Given the description of an element on the screen output the (x, y) to click on. 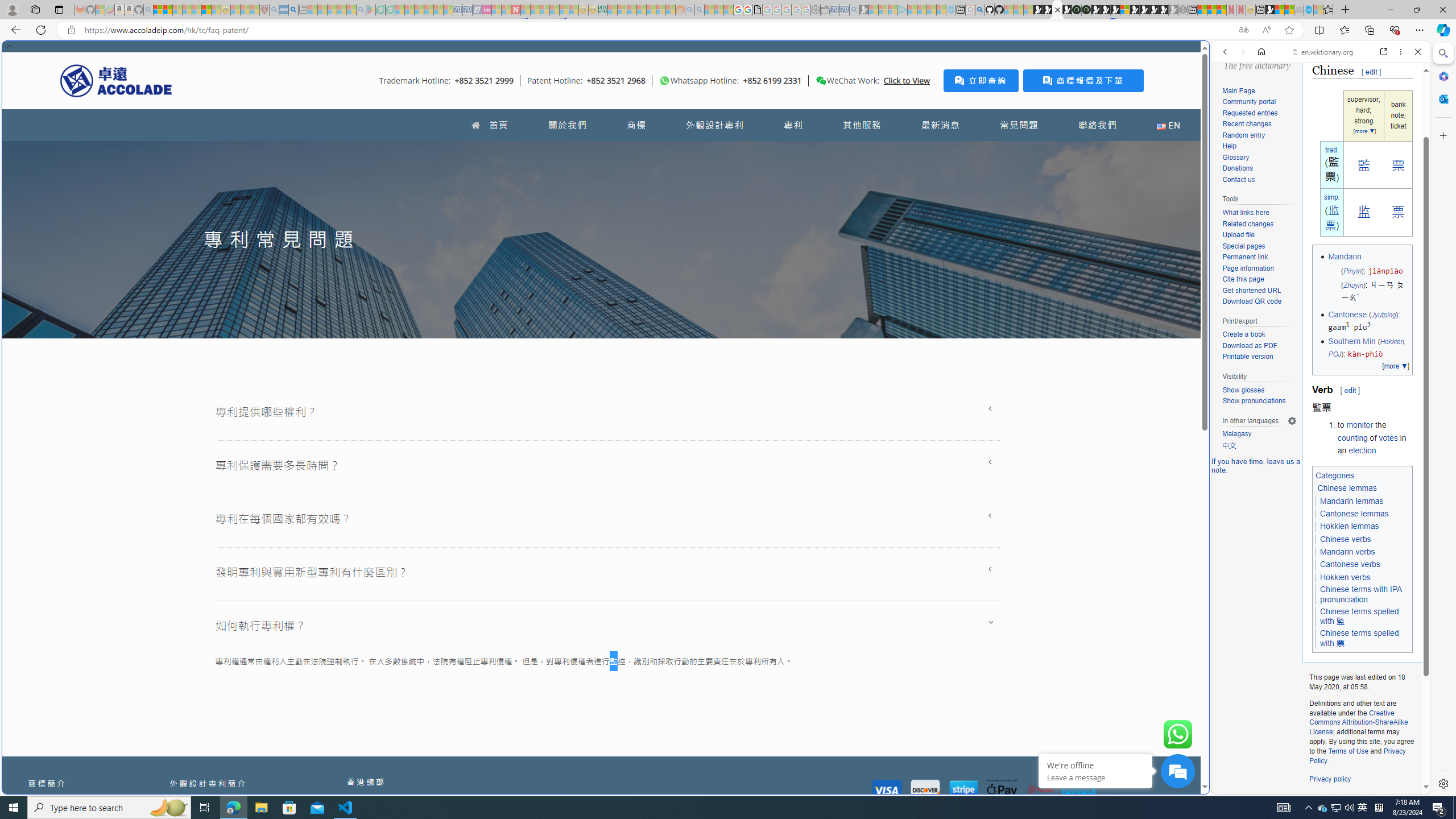
Main Page (1259, 91)
Random entry (1259, 135)
Chinese verbs (1345, 538)
Chinese terms with IPA pronunciation (1362, 594)
